Given the description of an element on the screen output the (x, y) to click on. 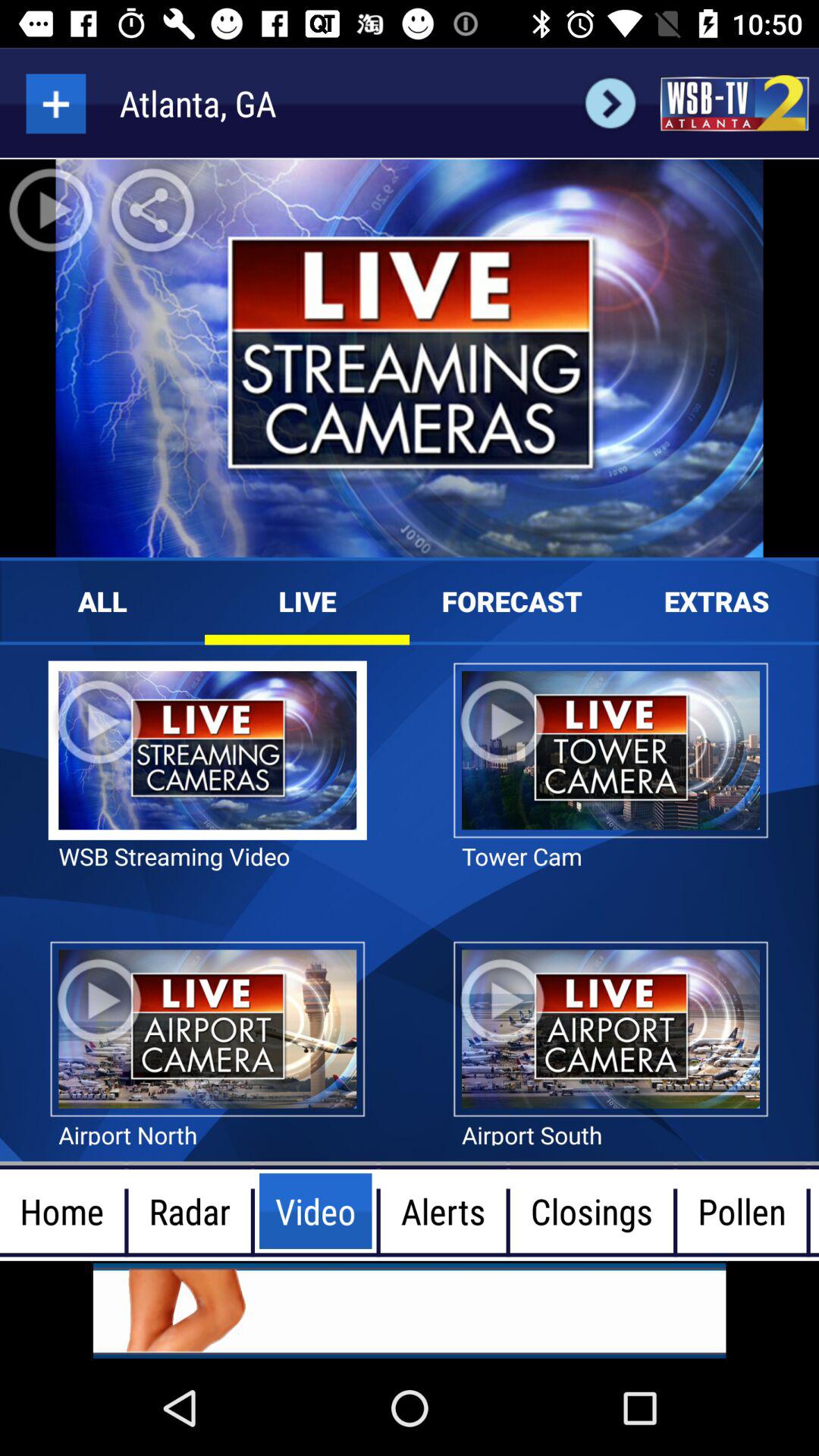
add new city (55, 103)
